Given the description of an element on the screen output the (x, y) to click on. 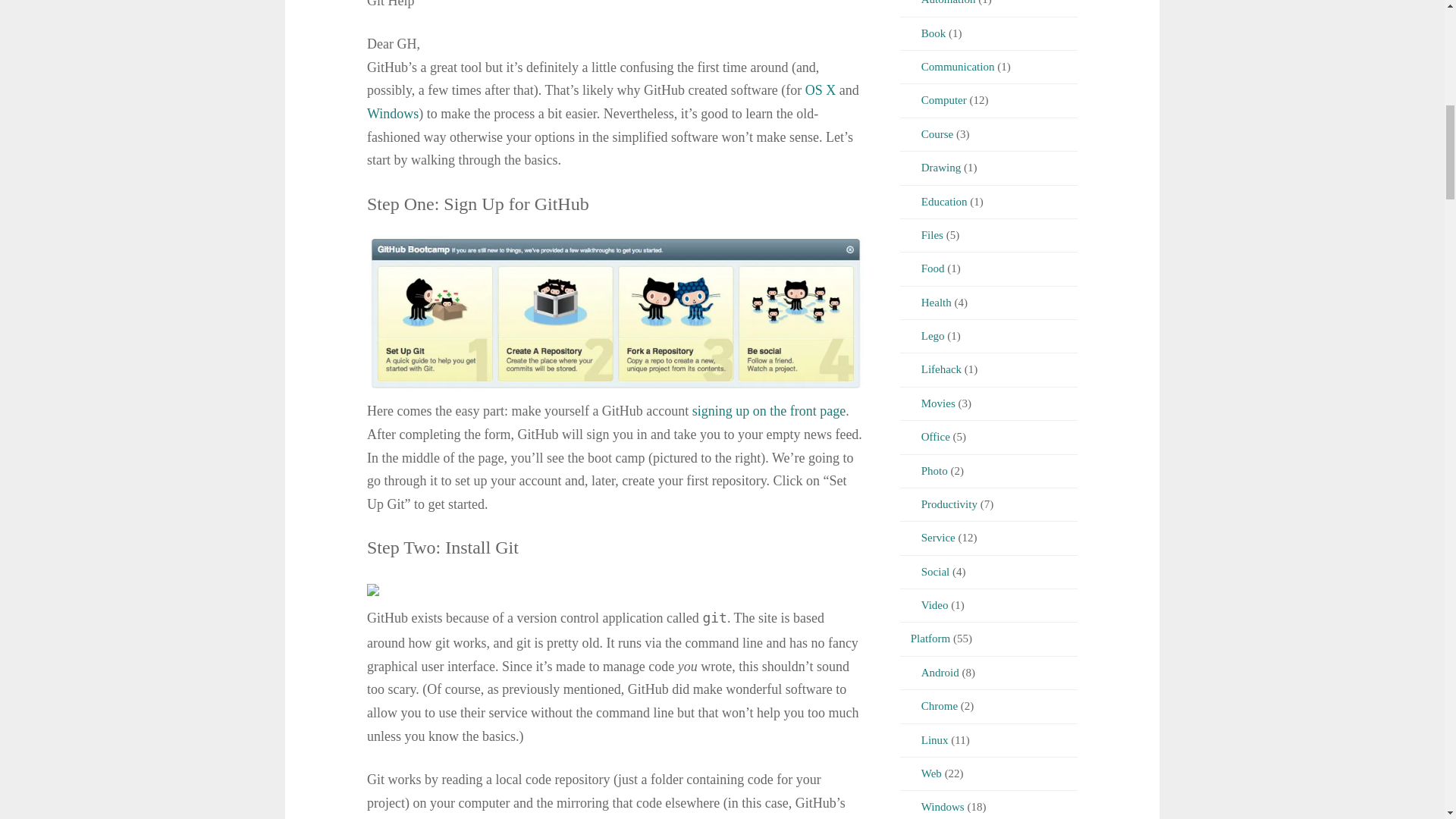
OS X (820, 89)
Book (922, 33)
Windows (392, 113)
Automation (937, 2)
signing up on the front page (769, 410)
